Given the description of an element on the screen output the (x, y) to click on. 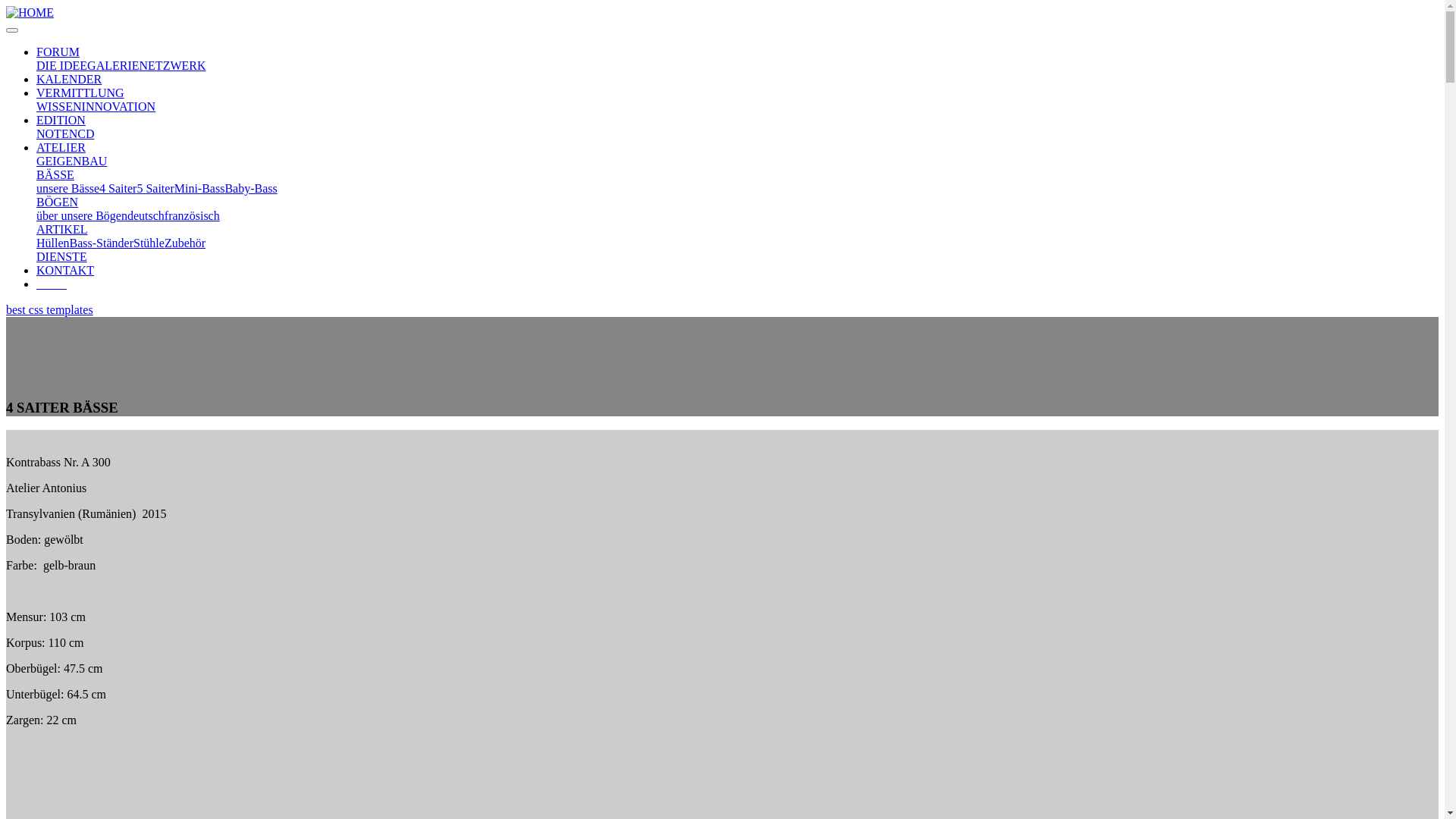
ATELIER Element type: text (60, 147)
KALENDER Element type: text (68, 78)
best css templates Element type: text (49, 309)
NETZWERK Element type: text (172, 65)
FORUM Element type: text (57, 51)
bass forum bern Element type: hover (29, 12)
deutsch Element type: text (145, 215)
KONTAKT Element type: text (65, 269)
ARTIKEL Element type: text (61, 228)
CD Element type: text (85, 133)
5 Saiter Element type: text (154, 188)
NOTEN Element type: text (56, 133)
4 Saiter Element type: text (117, 188)
VERMITTLUNG Element type: text (80, 92)
WISSEN Element type: text (58, 106)
EDITION Element type: text (60, 119)
GALERIE Element type: text (112, 65)
GEIGENBAU Element type: text (71, 160)
DIE IDEE Element type: text (61, 65)
Baby-Bass Element type: text (250, 188)
INNOVATION Element type: text (118, 106)
           Element type: text (51, 283)
DIENSTE Element type: text (61, 256)
Mini-Bass Element type: text (199, 188)
